Given the description of an element on the screen output the (x, y) to click on. 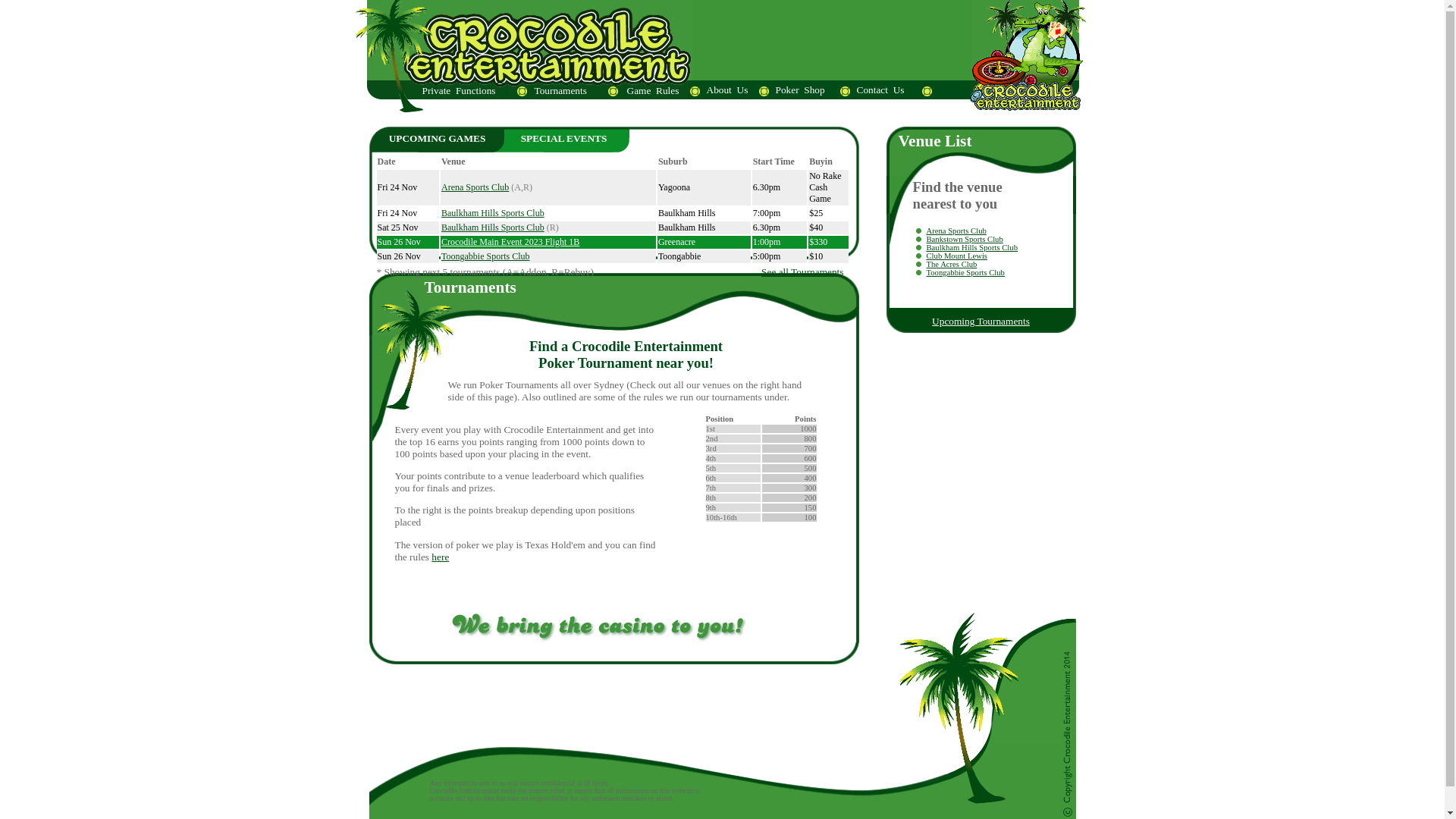
Club Mount Lewis Element type: text (957, 255)
See all Tournaments Element type: text (802, 271)
Contact_Us Element type: text (879, 89)
Toongabbie Sports Club Element type: text (965, 272)
The Acres Club Element type: text (951, 264)
here Element type: text (439, 556)
Tournaments Element type: text (581, 90)
Baulkham Hills Sports Club Element type: text (971, 247)
Toongabbie Sports Club Element type: text (485, 256)
Private_Functions Element type: text (462, 90)
Game_Rules Element type: text (655, 90)
UPCOMING GAMES Element type: text (437, 138)
Arena Sports Club Element type: text (956, 230)
Upcoming Tournaments Element type: text (980, 320)
About_Us Element type: text (726, 89)
Bankstown Sports Club Element type: text (964, 239)
SPECIAL EVENTS Element type: text (563, 138)
Crocodile Main Event 2023 Flight 1B Element type: text (510, 241)
Baulkham Hills Sports Club Element type: text (492, 212)
Poker_Shop Element type: text (800, 89)
Arena Sports Club Element type: text (474, 187)
Baulkham Hills Sports Club Element type: text (492, 227)
